Given the description of an element on the screen output the (x, y) to click on. 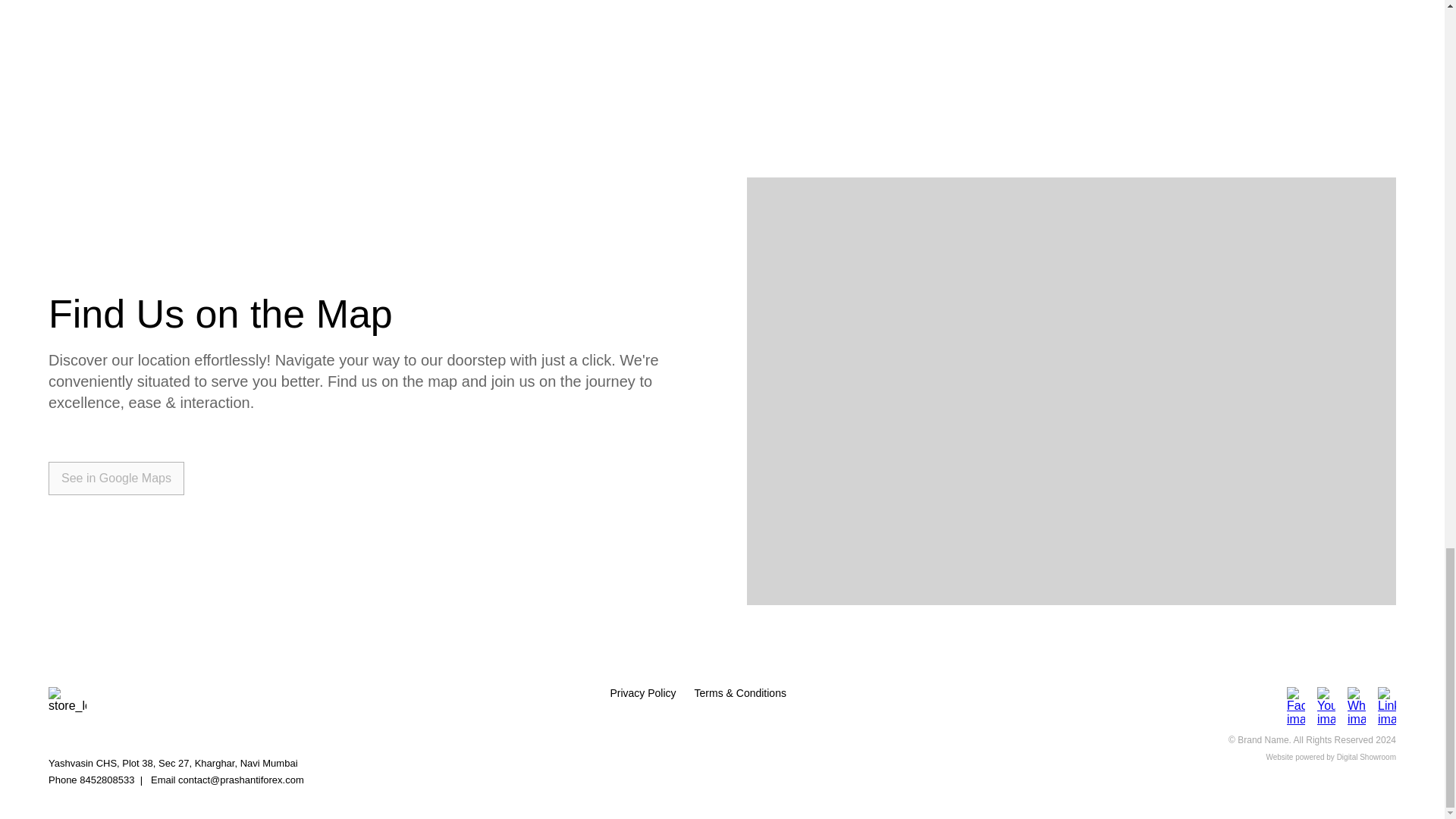
See in Google Maps (116, 478)
